Given the description of an element on the screen output the (x, y) to click on. 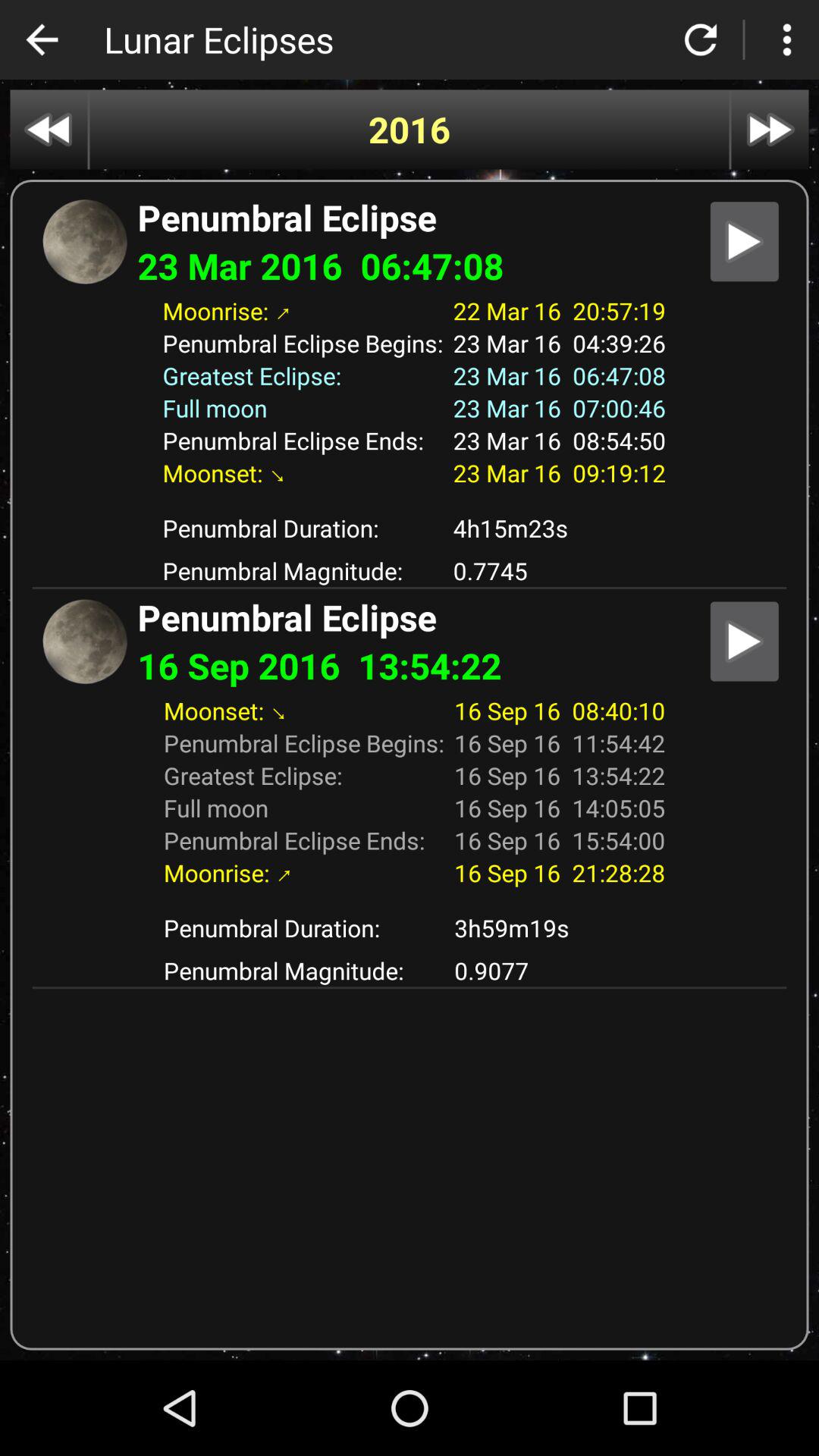
refresh button (700, 39)
